Given the description of an element on the screen output the (x, y) to click on. 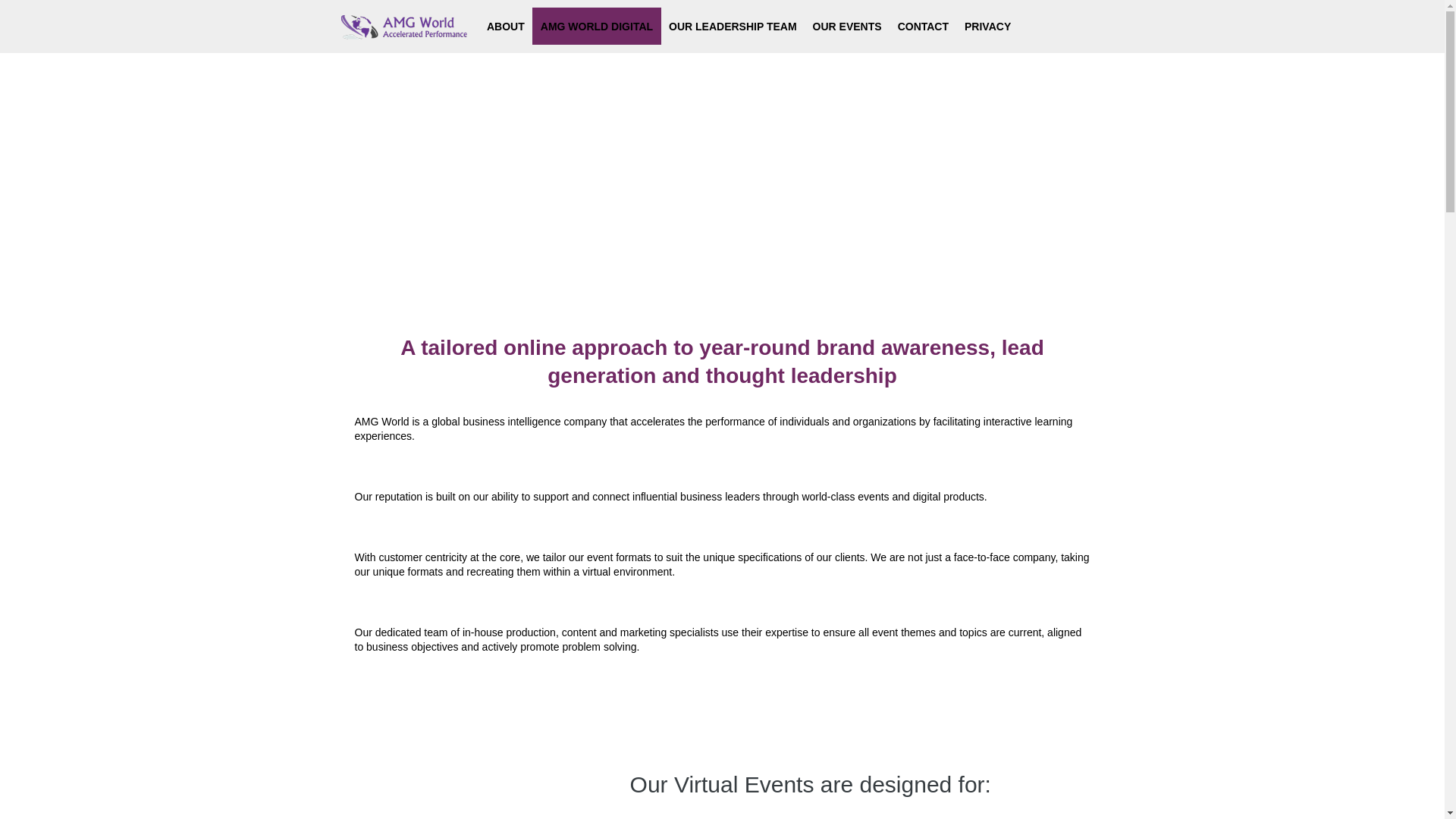
ABOUT (505, 26)
CONTACT (922, 26)
PRIVACY (987, 26)
OUR LEADERSHIP TEAM (733, 26)
AMG WORLD DIGITAL (596, 26)
OUR EVENTS (847, 26)
